Given the description of an element on the screen output the (x, y) to click on. 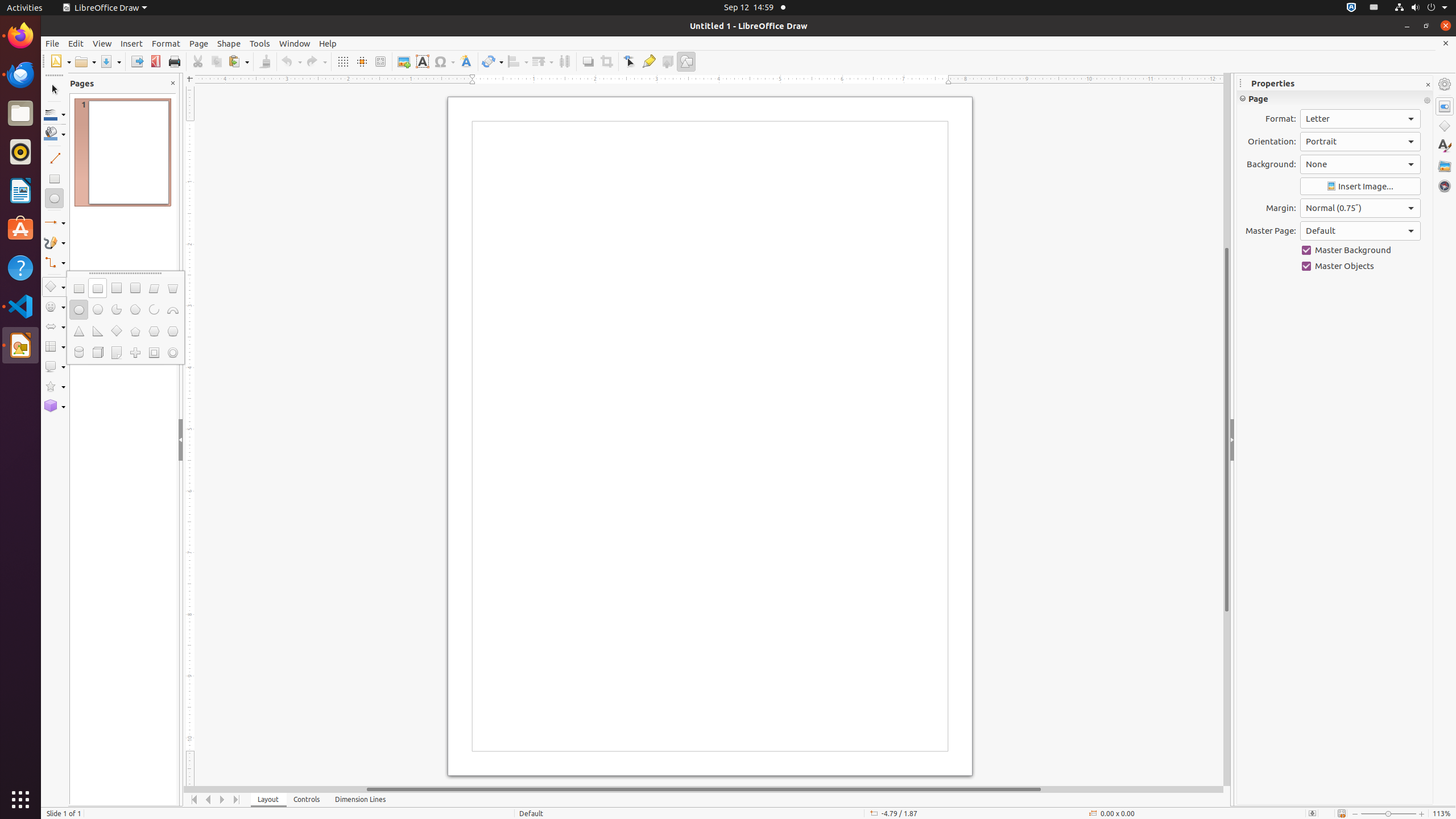
Redo Element type: push-button (315, 61)
Draw Functions Element type: toggle-button (685, 61)
Insert Image Element type: push-button (1360, 186)
Move To Home Element type: push-button (194, 799)
Layout Element type: page-tab (268, 799)
